Given the description of an element on the screen output the (x, y) to click on. 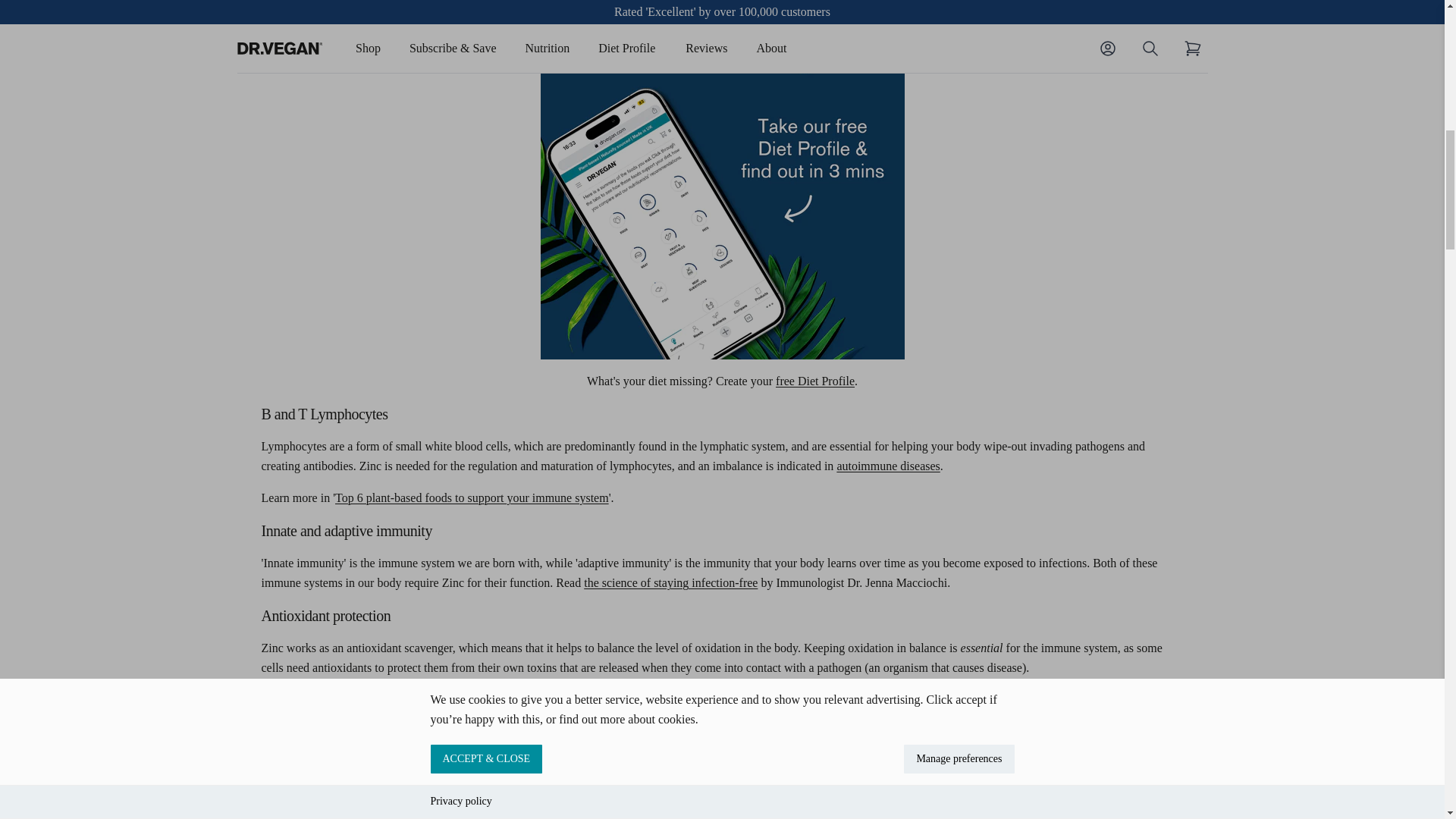
the science of staying infection-free (670, 582)
plant-based immunity (471, 497)
ginger tea (401, 698)
